Given the description of an element on the screen output the (x, y) to click on. 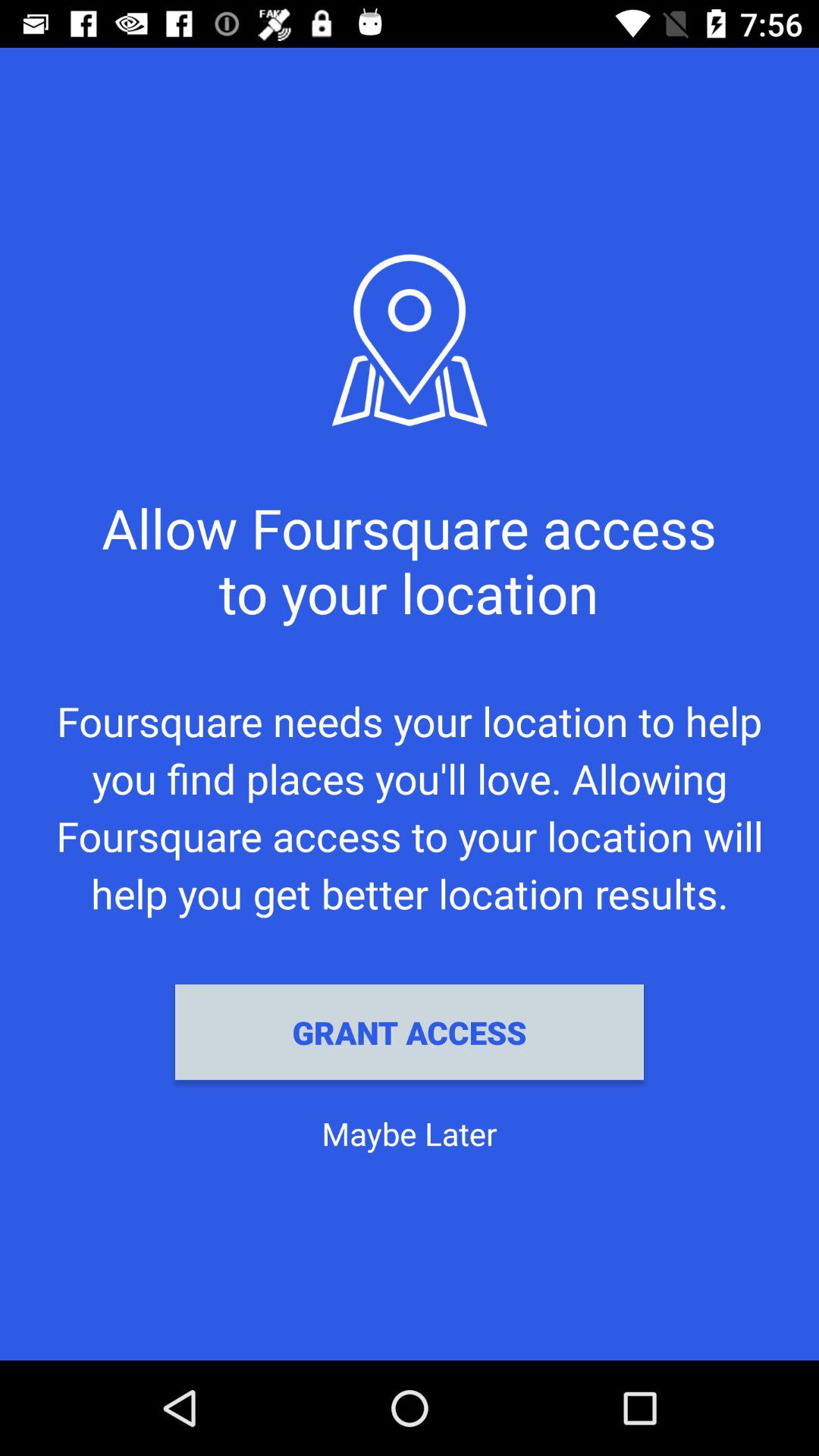
flip until maybe later icon (409, 1133)
